Given the description of an element on the screen output the (x, y) to click on. 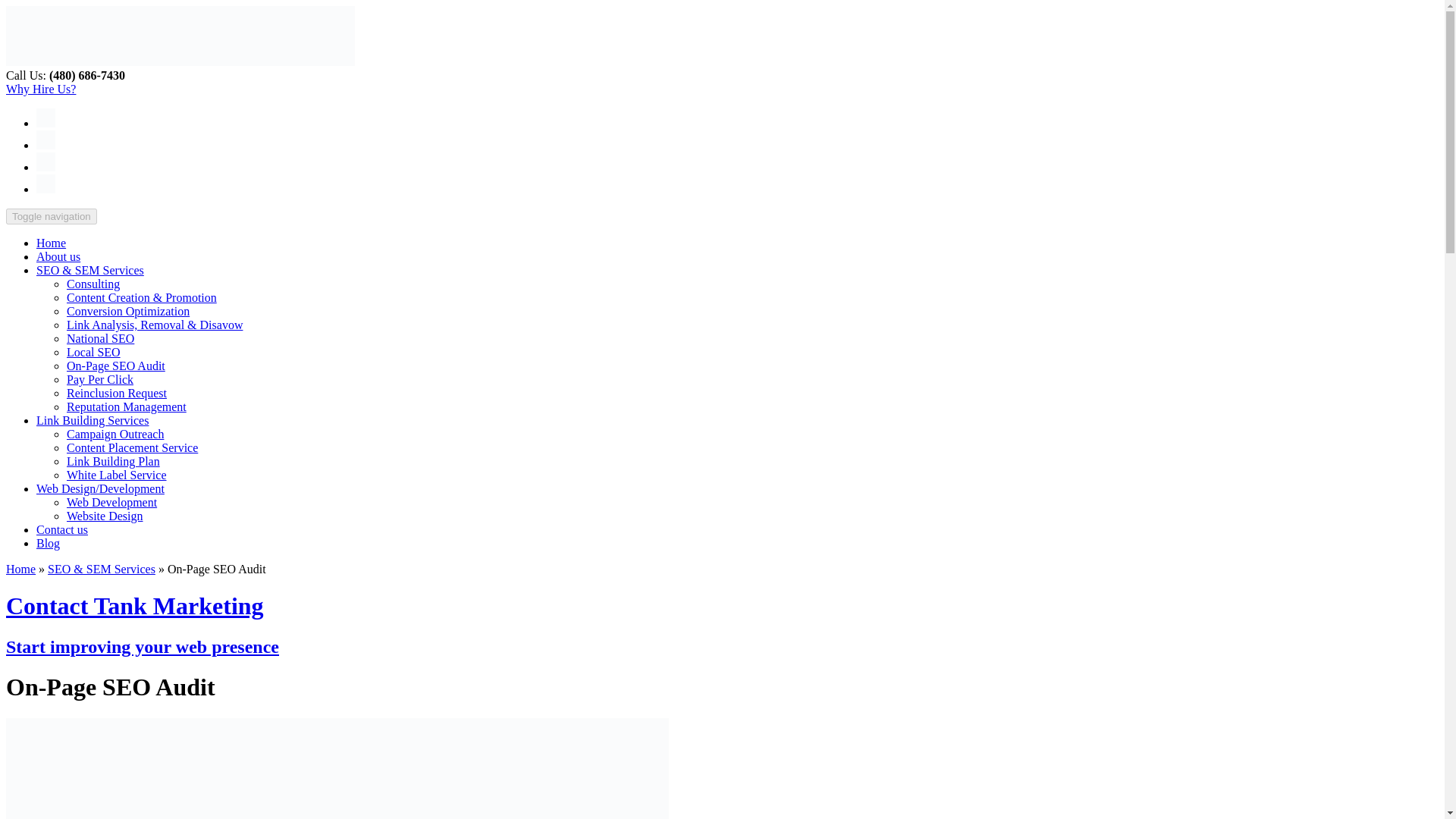
About us (58, 256)
Website Design (104, 515)
Link Building Plan (113, 461)
Home (19, 568)
Content Placement Service (132, 447)
Local SEO (93, 351)
Local SEO (93, 351)
Conversion Optimization (127, 310)
Home (50, 242)
Reputation Management (126, 406)
On-Page SEO Audit (115, 365)
Campaign Outreach (114, 433)
White Label Service (116, 474)
Why Hire Us? (40, 88)
Link Building Services (92, 420)
